Given the description of an element on the screen output the (x, y) to click on. 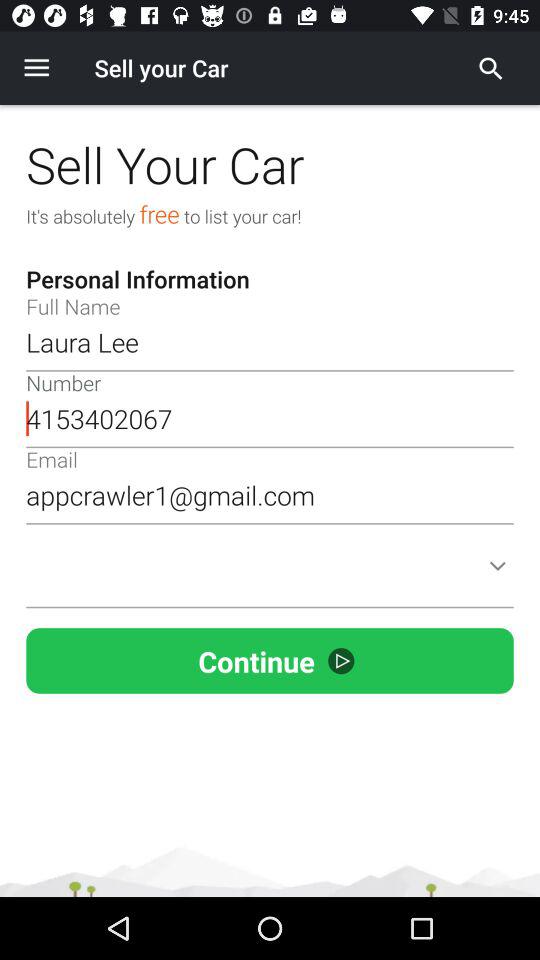
choose item below personal information (269, 342)
